Given the description of an element on the screen output the (x, y) to click on. 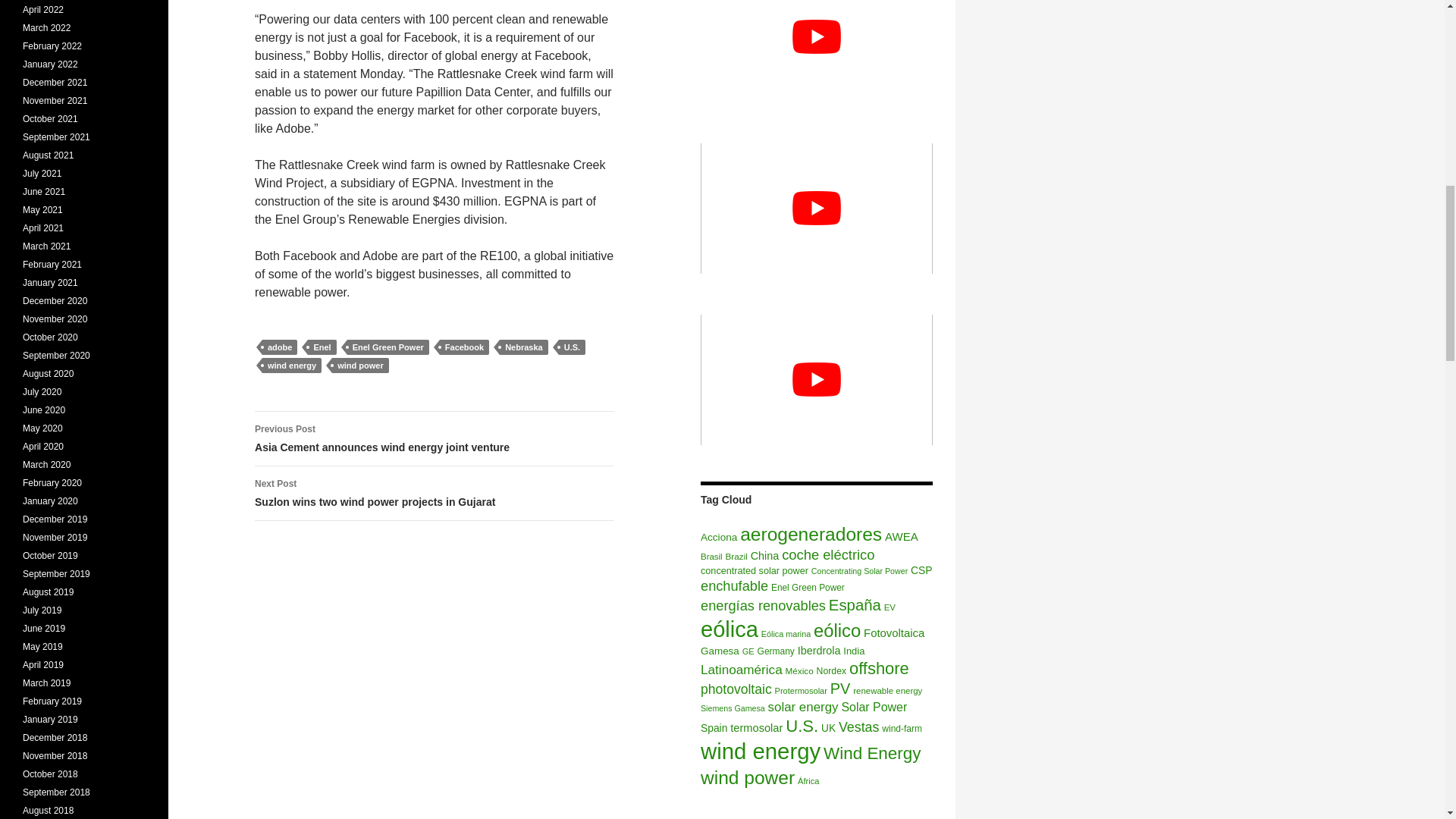
Nebraska (523, 346)
Enel (321, 346)
adobe (279, 346)
Enel Green Power (388, 346)
wind power (359, 365)
Facebook (434, 493)
U.S. (464, 346)
wind energy (572, 346)
